Given the description of an element on the screen output the (x, y) to click on. 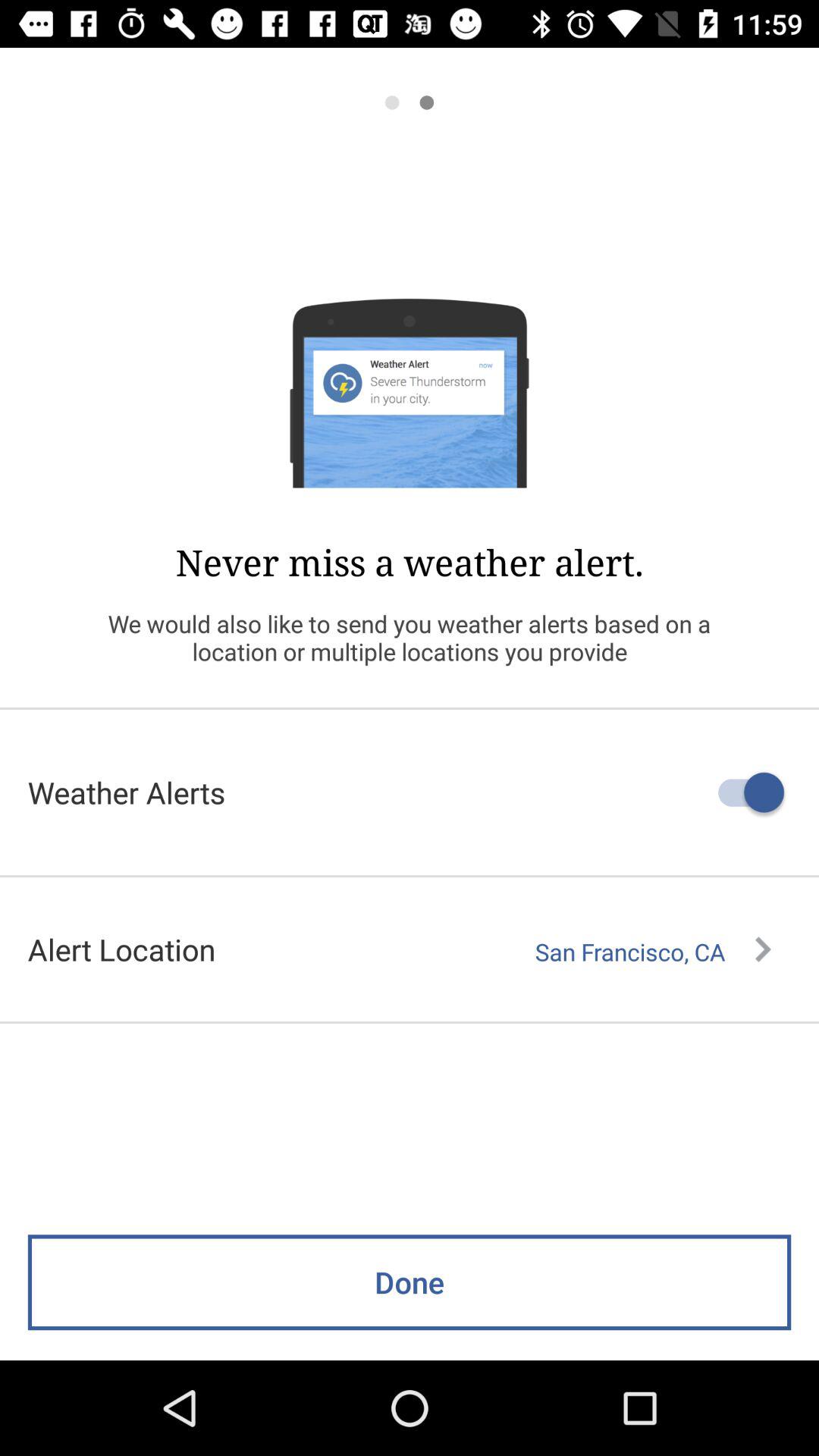
scroll to the done (409, 1282)
